Given the description of an element on the screen output the (x, y) to click on. 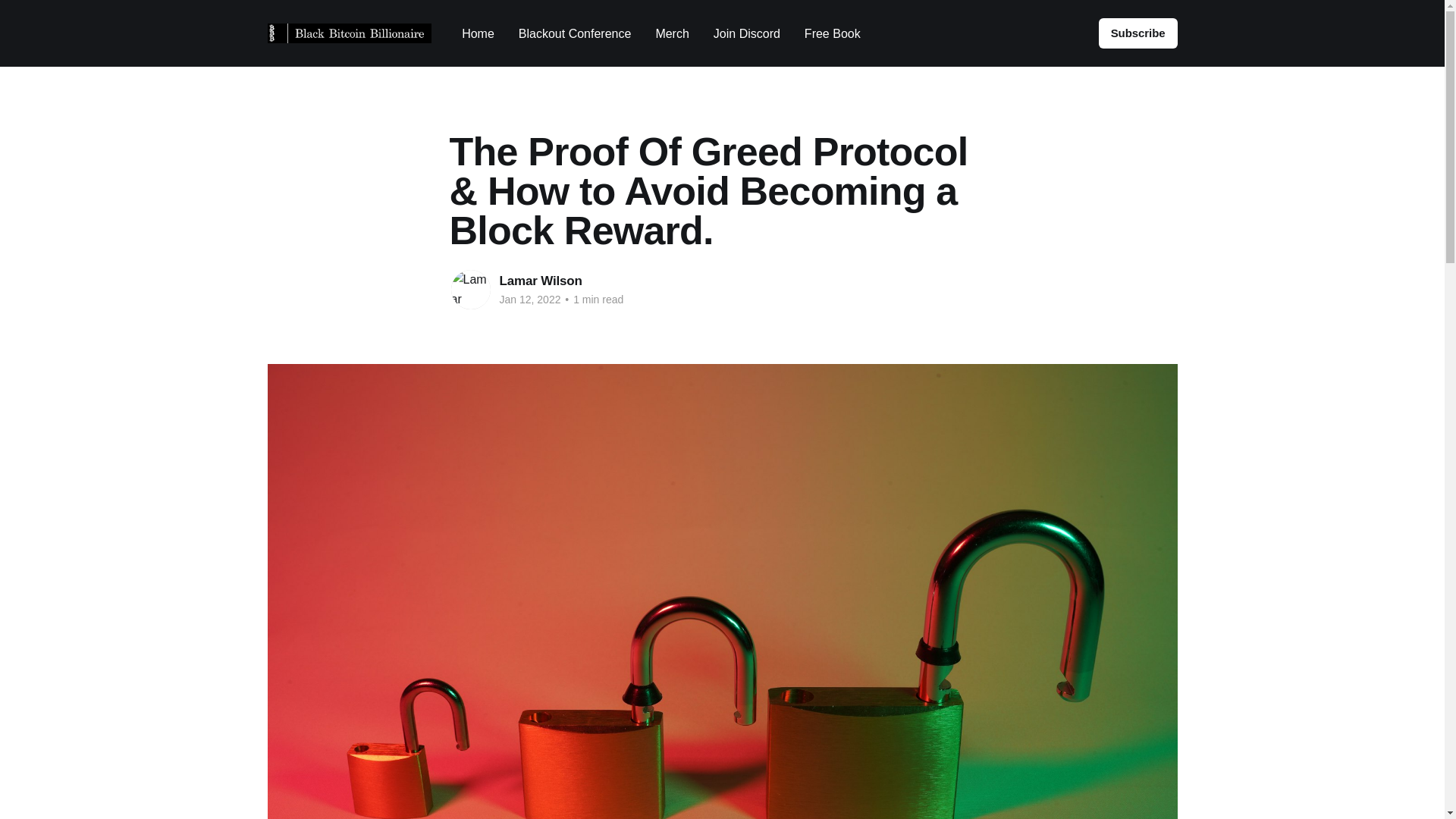
Blackout Conference (574, 33)
Lamar Wilson (539, 280)
Join Discord (746, 33)
Subscribe (1138, 33)
Merch (671, 33)
Home (478, 33)
Free Book (832, 33)
